Given the description of an element on the screen output the (x, y) to click on. 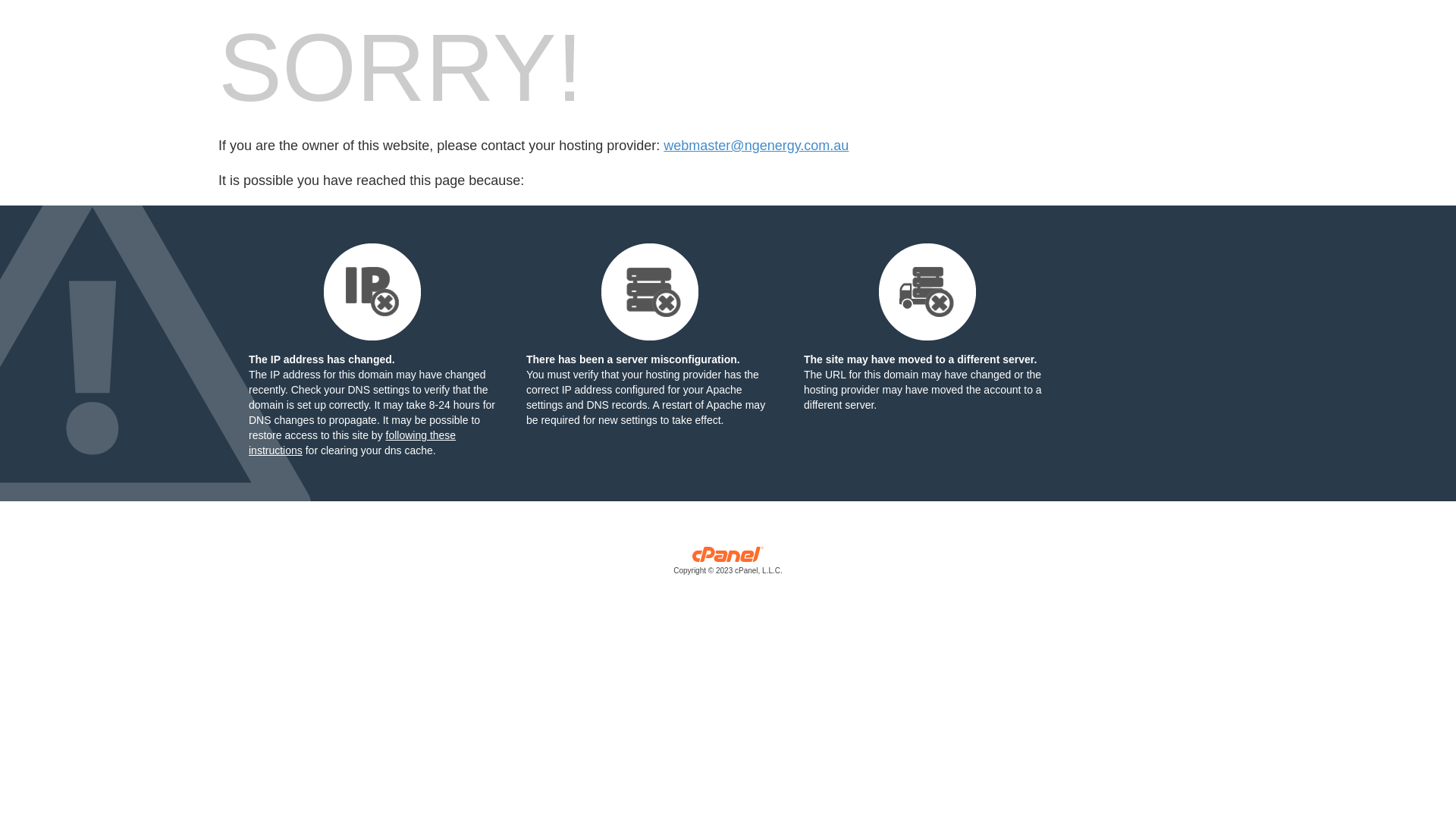
webmaster@ngenergy.com.au Element type: text (755, 145)
following these instructions Element type: text (351, 442)
